Given the description of an element on the screen output the (x, y) to click on. 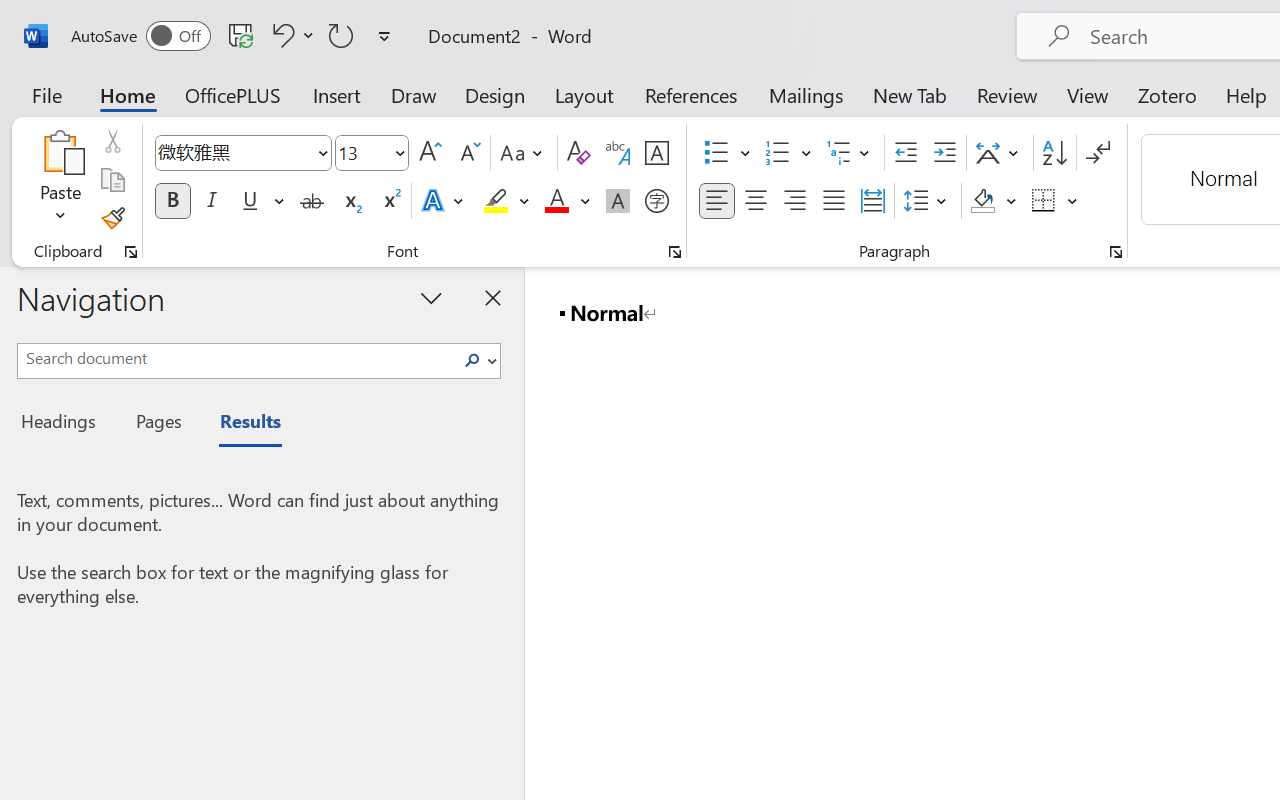
Center (756, 201)
Change Case (524, 153)
Headings (64, 424)
Design (495, 94)
Font Color Red (556, 201)
Font (242, 153)
Layout (584, 94)
Shading RGB(0, 0, 0) (982, 201)
Increase Indent (944, 153)
Insert (337, 94)
Format Painter (112, 218)
Search document (236, 358)
Clear Formatting (578, 153)
Copy (112, 179)
